Given the description of an element on the screen output the (x, y) to click on. 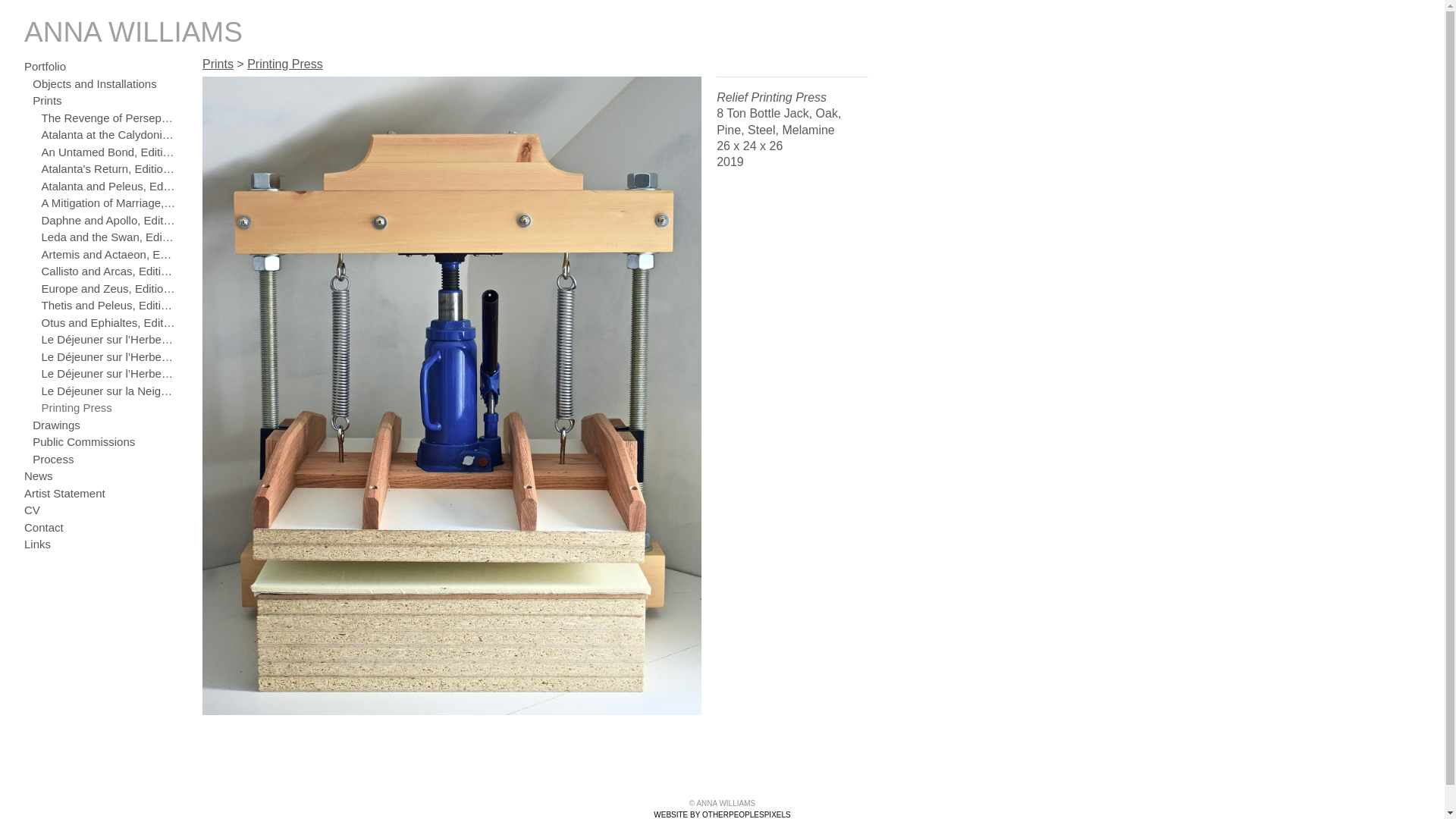
Thetis and Peleus, Edition of 4, Linocut, 16" x 22", 2019 Element type: text (107, 305)
Daphne and Apollo, Edition of 4, Woodcut, 16" x 22", 2019 Element type: text (107, 220)
Objects and Installations Element type: text (103, 84)
An Untamed Bond, Edition of 6, Linocut, 16" x 22", 2020 Element type: text (107, 152)
Atalanta's Return, Edition of 6, Linocut, 16" x 22", 2019 Element type: text (107, 169)
Public Commissions Element type: text (103, 442)
ANNA WILLIAMS Element type: text (722, 32)
Portfolio Element type: text (99, 66)
Callisto and Arcas, Edition of 6, Linocut, 16" x 22", 2019 Element type: text (107, 271)
Links Element type: text (99, 544)
Atalanta and Peleus, Edition of 6, Linocut, 16" x 22", 2020 Element type: text (107, 185)
Otus and Ephialtes, Edition of 4, Linocut, 16" x 22", 2019 Element type: text (107, 322)
Contact Element type: text (99, 527)
Website by OtherPeoplesPixels Element type: hover (1413, 30)
News Element type: text (99, 476)
Artemis and Actaeon, Edition of 6, Linocut, 16" x 22", 2021 Element type: text (107, 254)
Artist Statement Element type: text (99, 493)
Europe and Zeus, Edition of 4, Linocut, 16" x 22", 2020 Element type: text (107, 289)
Leda and the Swan, Edition of 6, Linocut, 16" x 22", 2021 Element type: text (107, 237)
Printing Press Element type: text (107, 408)
Prints Element type: text (103, 100)
Prints Element type: text (217, 63)
CV Element type: text (99, 510)
Process Element type: text (103, 458)
Drawings Element type: text (103, 425)
